Given the description of an element on the screen output the (x, y) to click on. 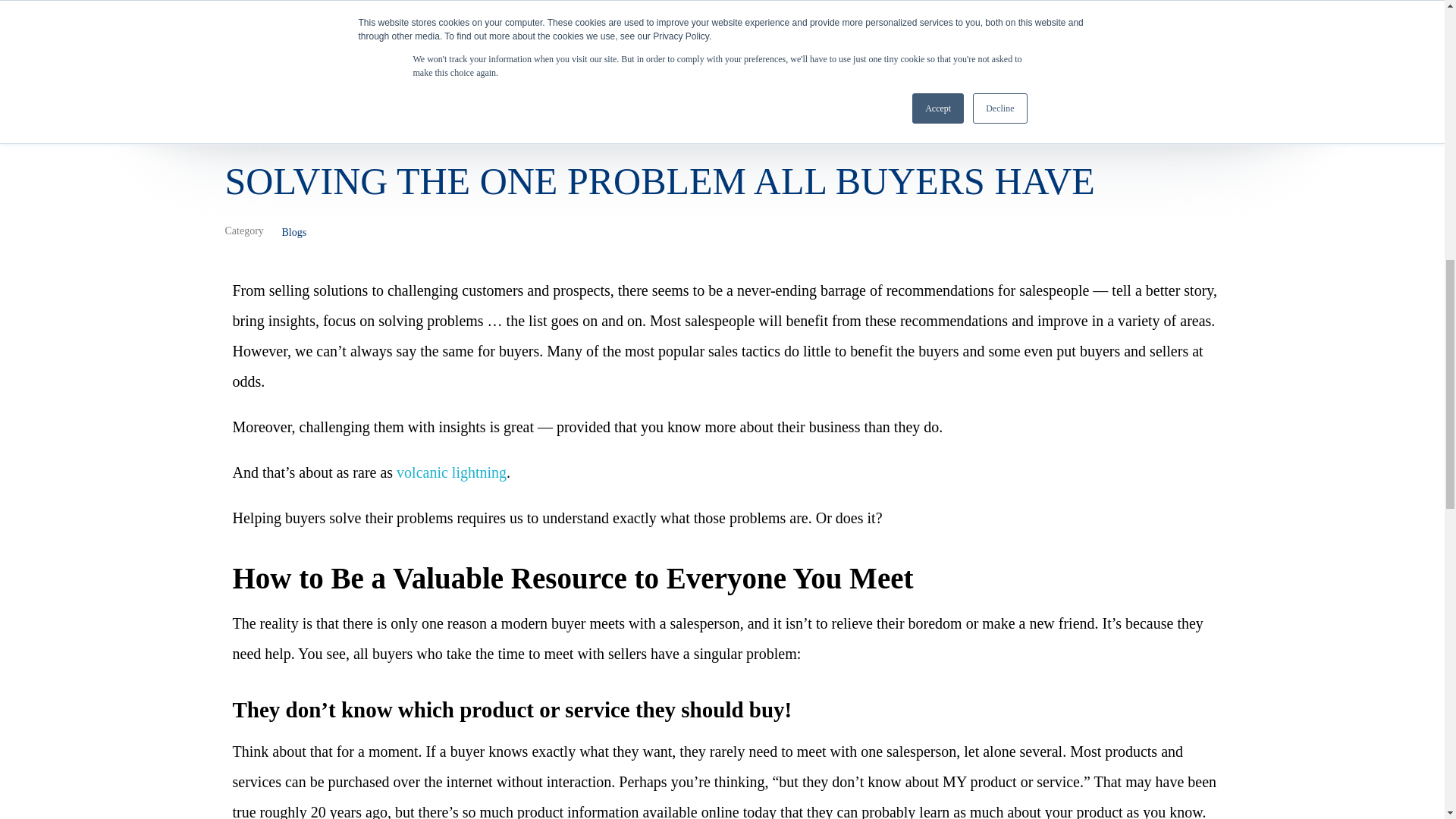
volcanic lightning (451, 472)
View all posts in Blogs (294, 232)
Blogs (294, 232)
